Given the description of an element on the screen output the (x, y) to click on. 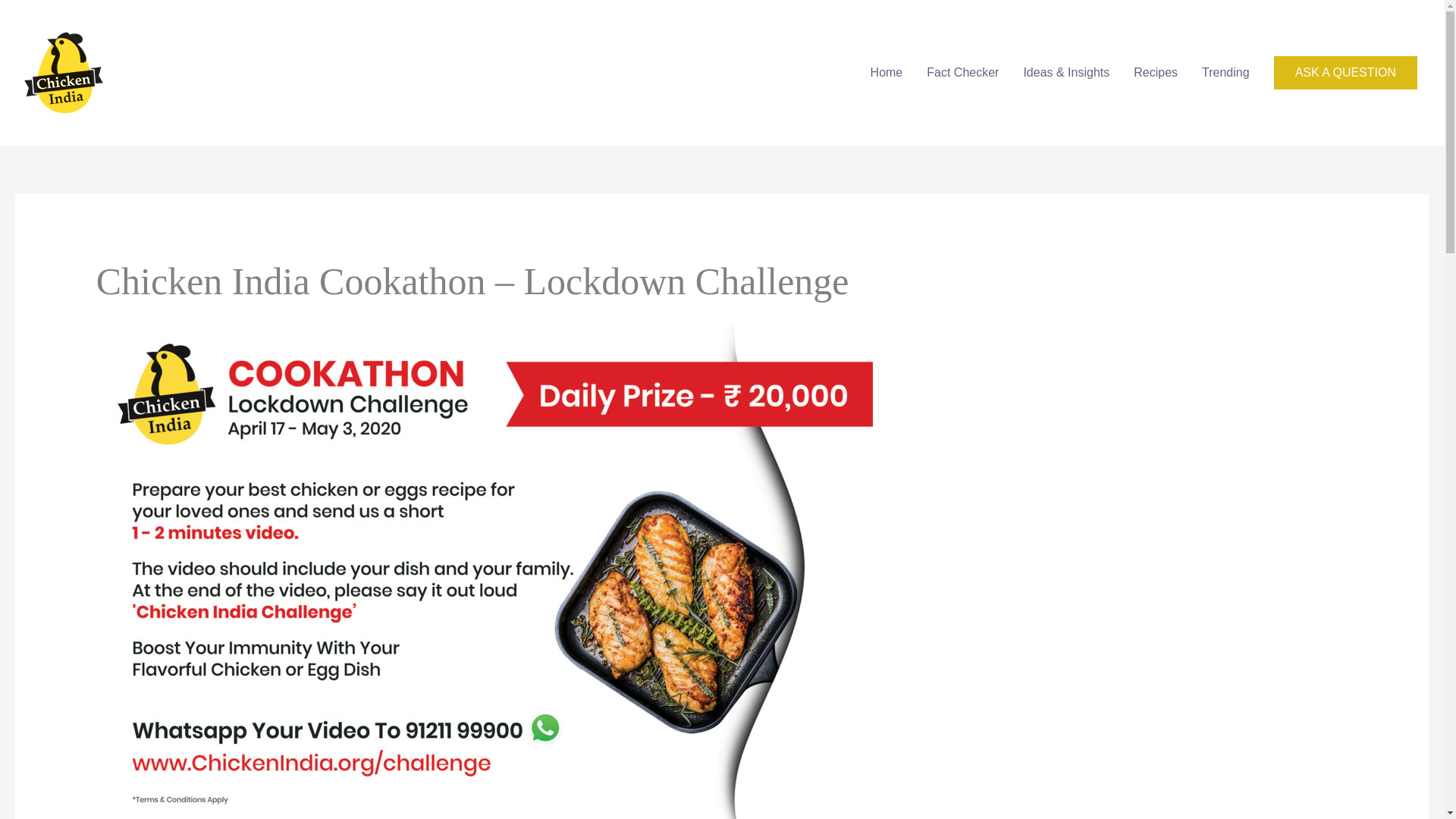
ASK A QUESTION (1345, 72)
Trending (1225, 72)
Recipes (1155, 72)
Fact Checker (962, 72)
Home (887, 72)
